Given the description of an element on the screen output the (x, y) to click on. 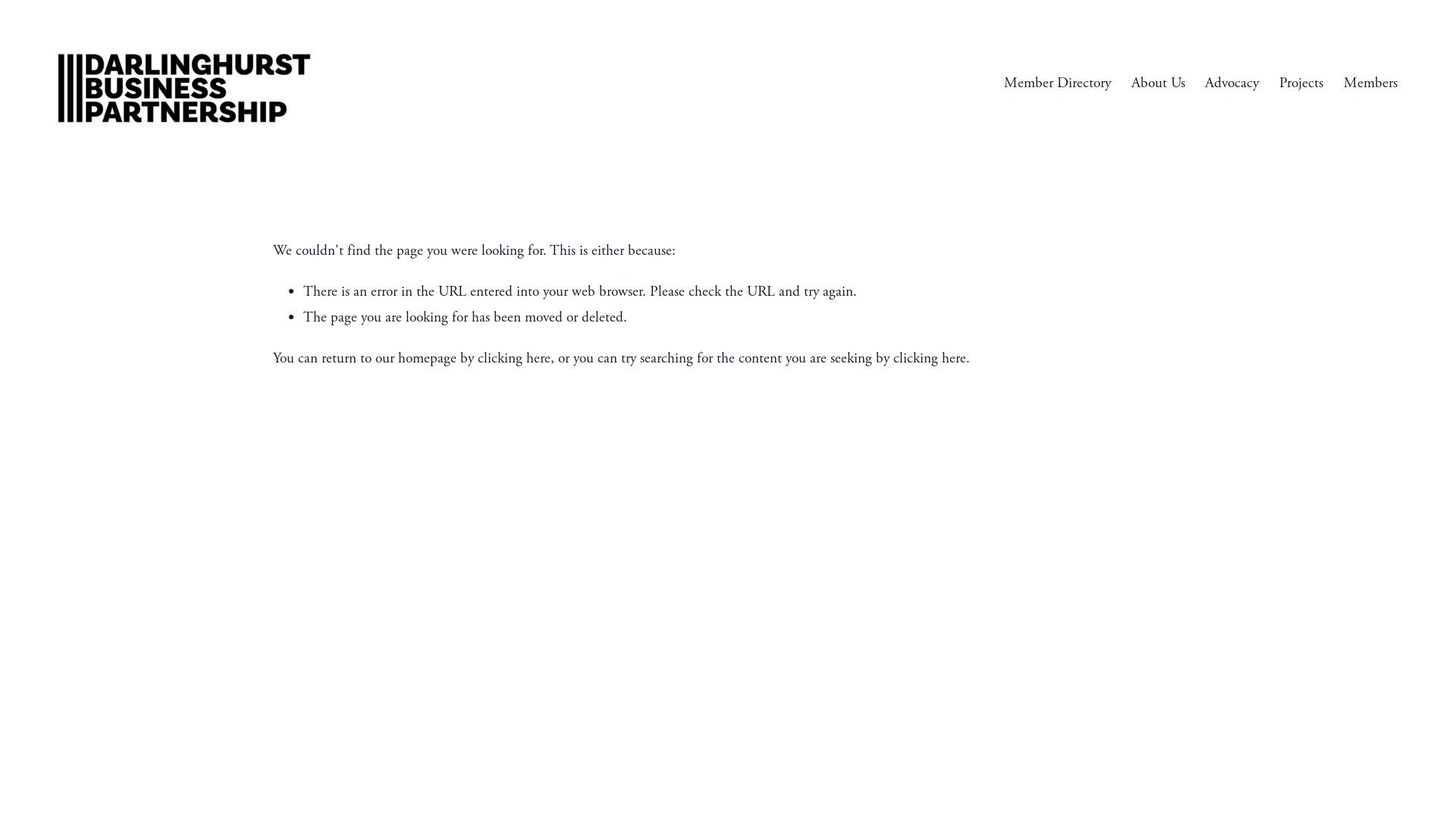
About Us Element type: text (1158, 83)
clicking here Element type: text (929, 357)
Projects Element type: text (1301, 83)
clicking here Element type: text (513, 357)
Advocacy Element type: text (1231, 83)
Member Directory Element type: text (1057, 83)
Members Element type: text (1370, 83)
